Given the description of an element on the screen output the (x, y) to click on. 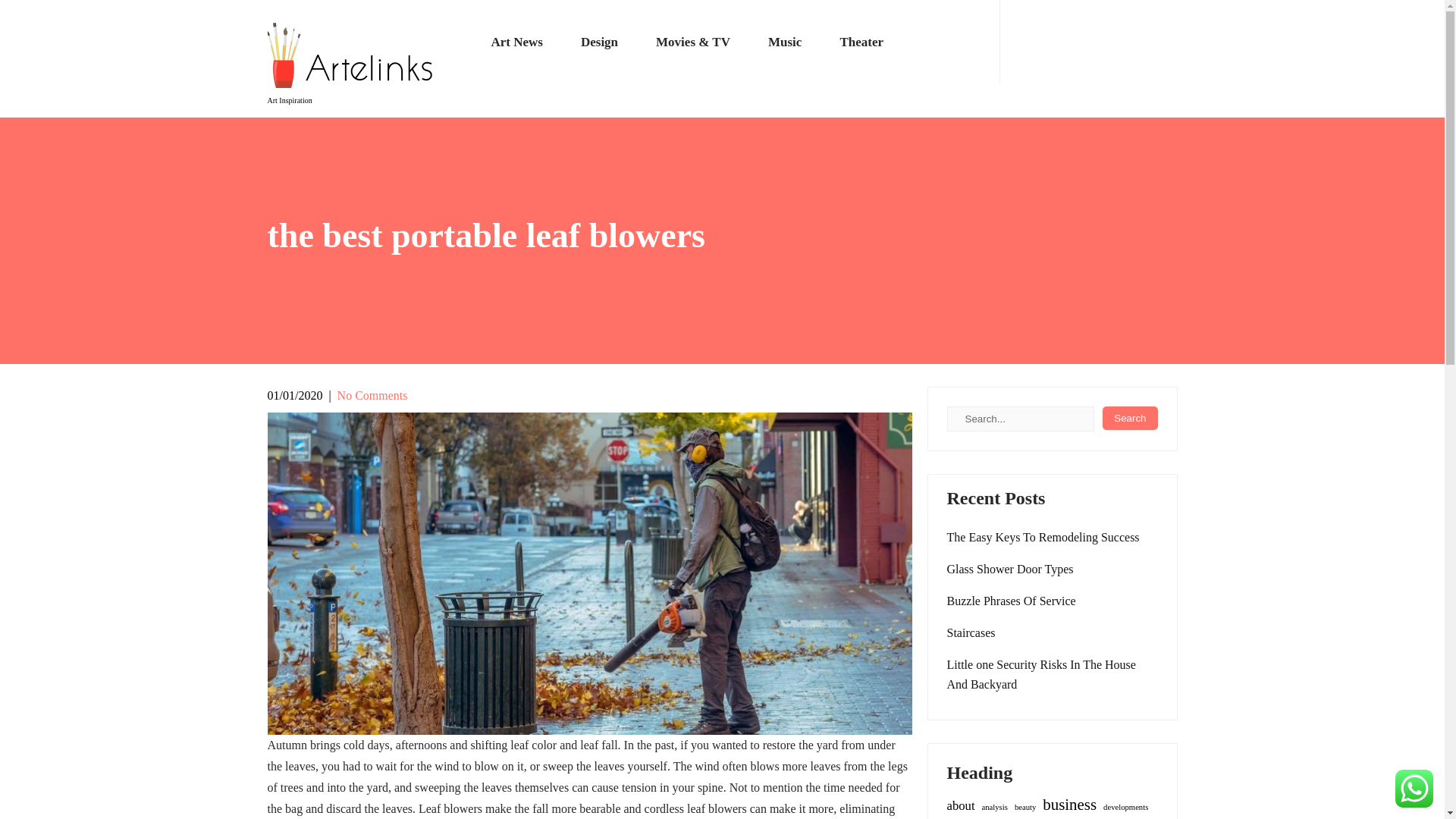
estate (968, 818)
about (960, 805)
Glass Shower Door Types (1009, 569)
Search (1129, 417)
Music (785, 42)
Buzzle Phrases Of Service (1010, 600)
Search (1129, 417)
Little one Security Risks In The House And Backyard (1051, 674)
analysis (994, 807)
Theater (852, 42)
The Easy Keys To Remodeling Success (1042, 537)
Art News (515, 42)
business (1069, 803)
developments (1125, 807)
Staircases (970, 632)
